Given the description of an element on the screen output the (x, y) to click on. 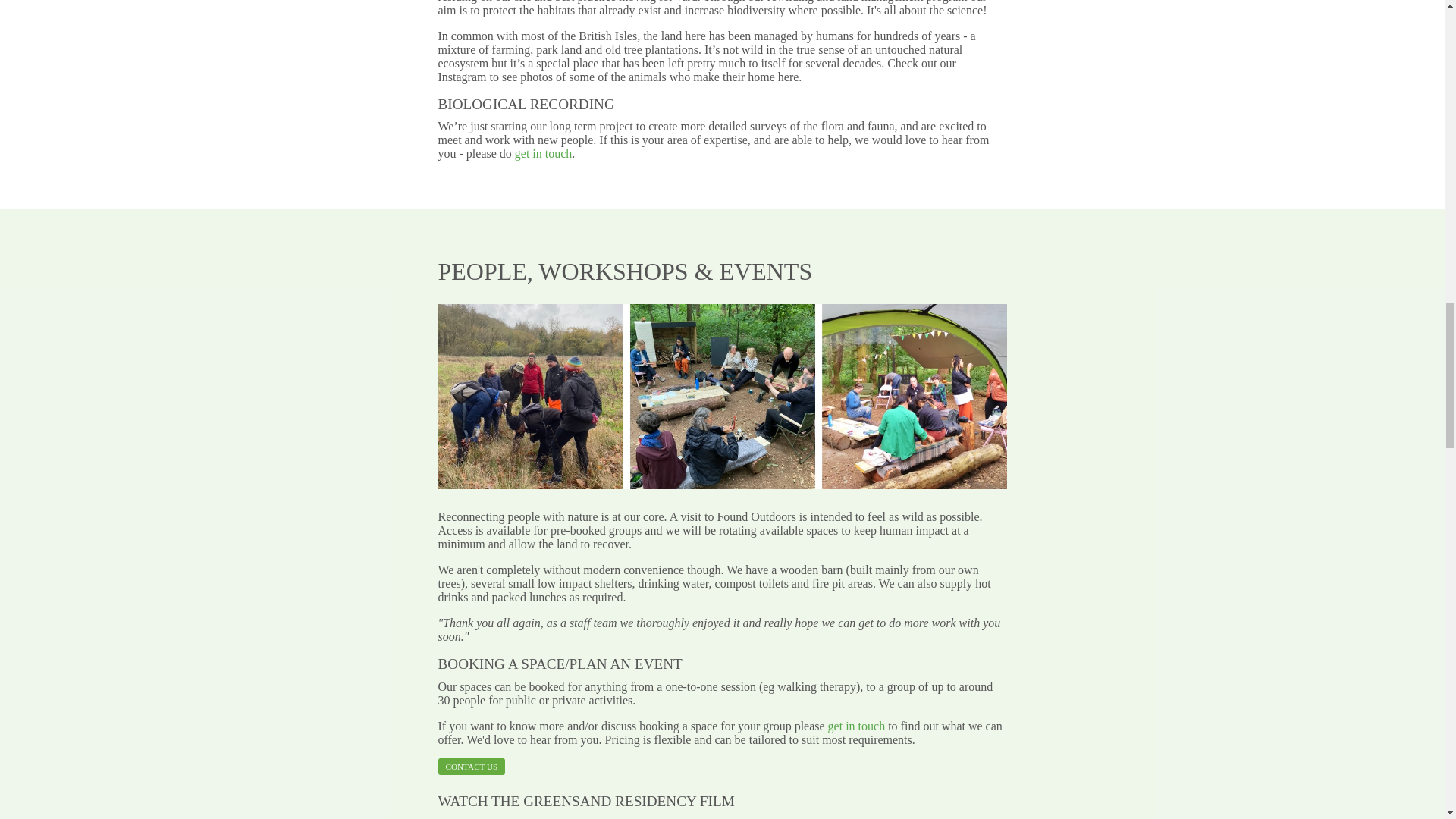
CONTACT US (471, 766)
get in touch (543, 153)
get in touch (856, 725)
